Given the description of an element on the screen output the (x, y) to click on. 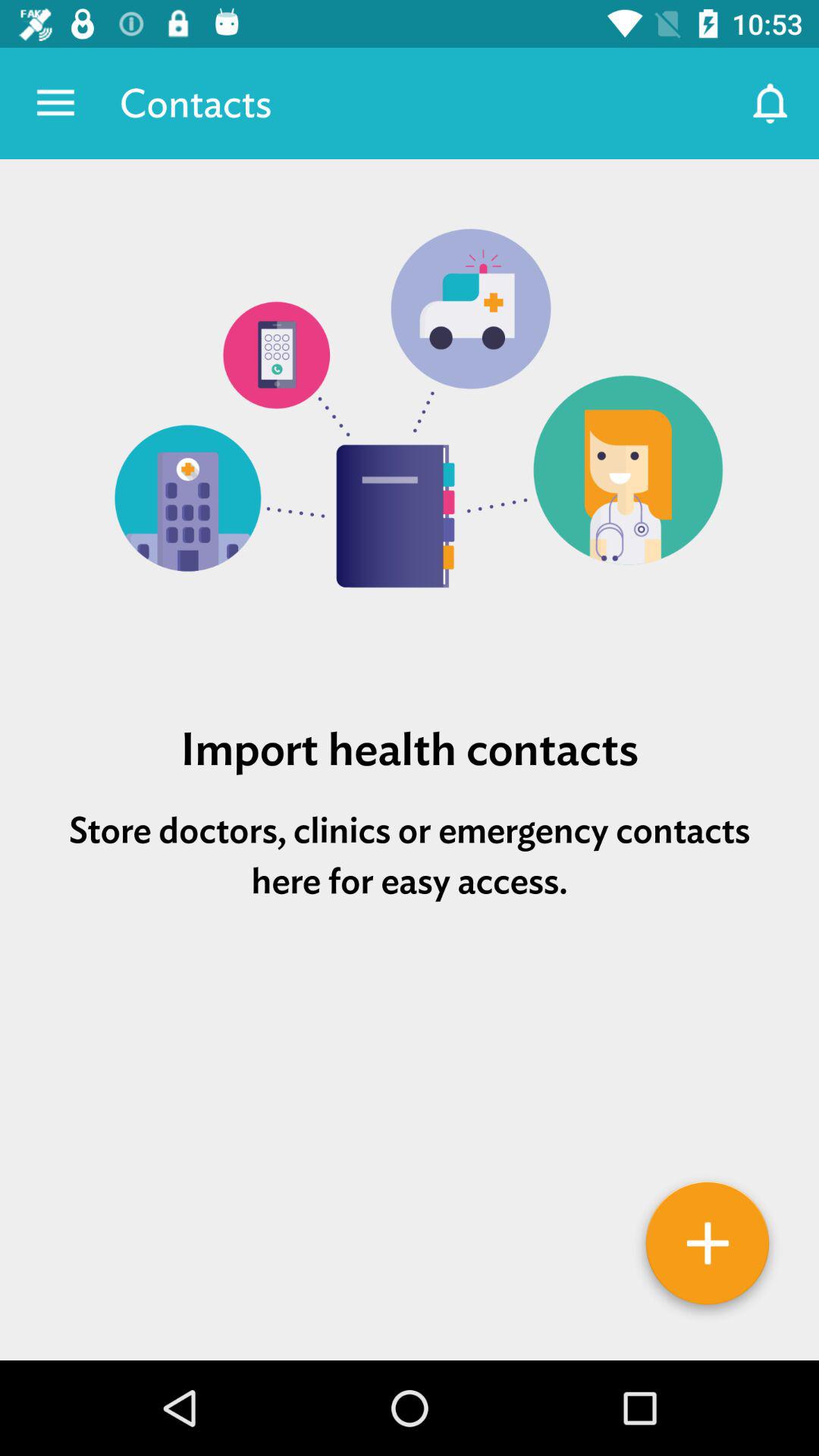
turn on the item below import health contacts item (409, 855)
